Given the description of an element on the screen output the (x, y) to click on. 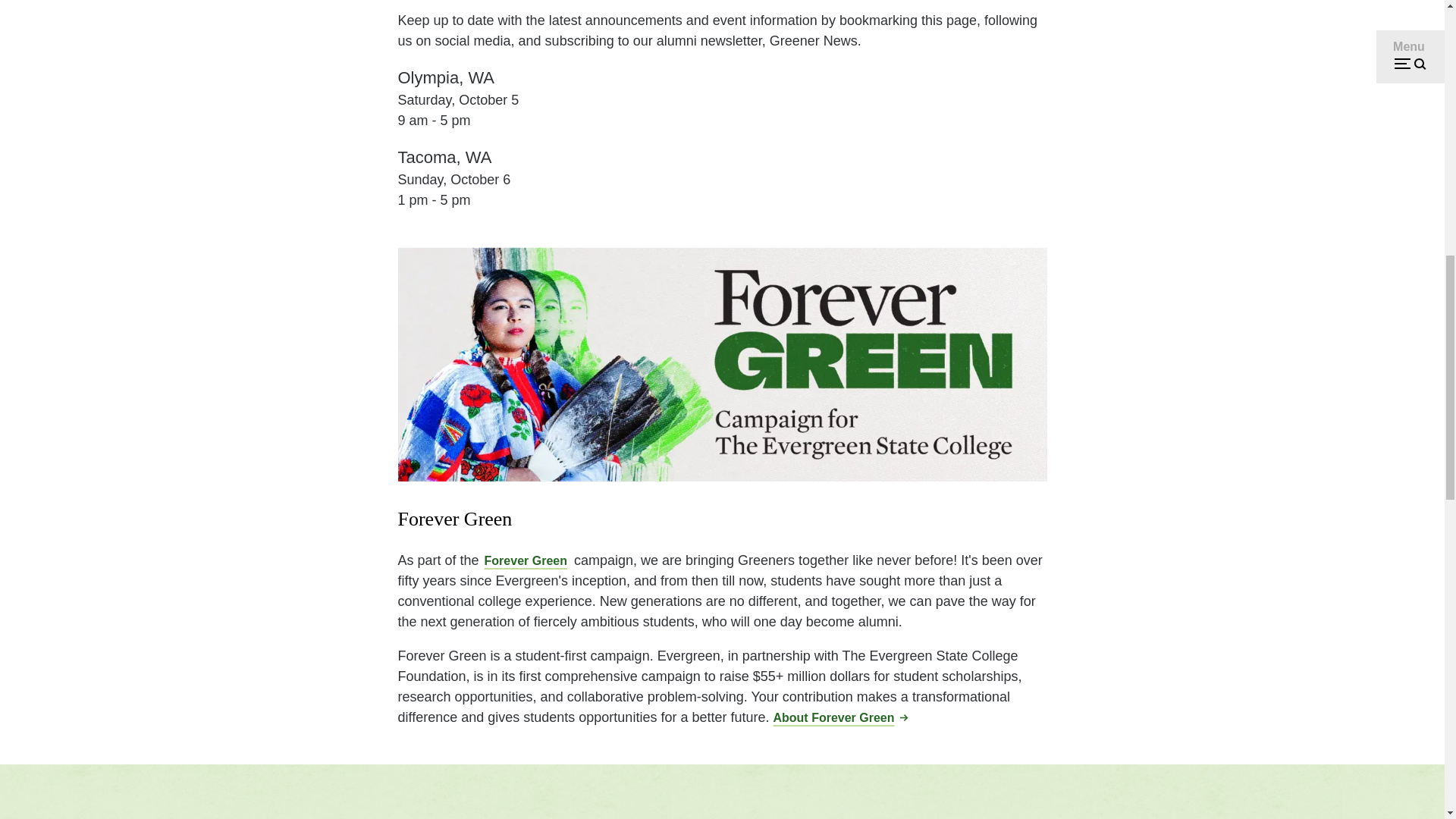
Forever Green (525, 560)
About Forever Green (840, 717)
